Given the description of an element on the screen output the (x, y) to click on. 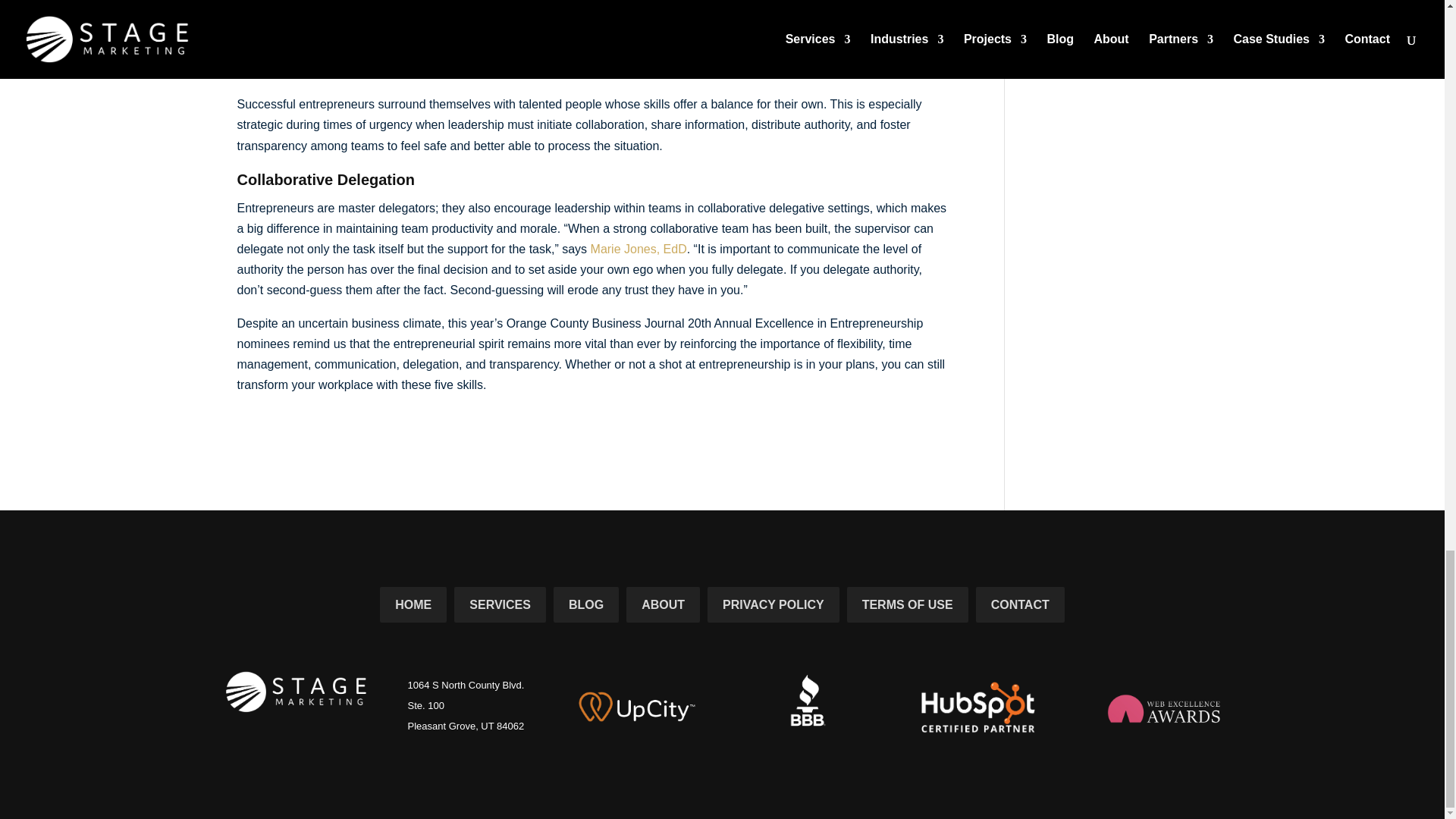
Hubspot (978, 706)
Stage Marketing Logo (283, 687)
Web Excellence Awards (1163, 708)
UpCity (636, 706)
